Given the description of an element on the screen output the (x, y) to click on. 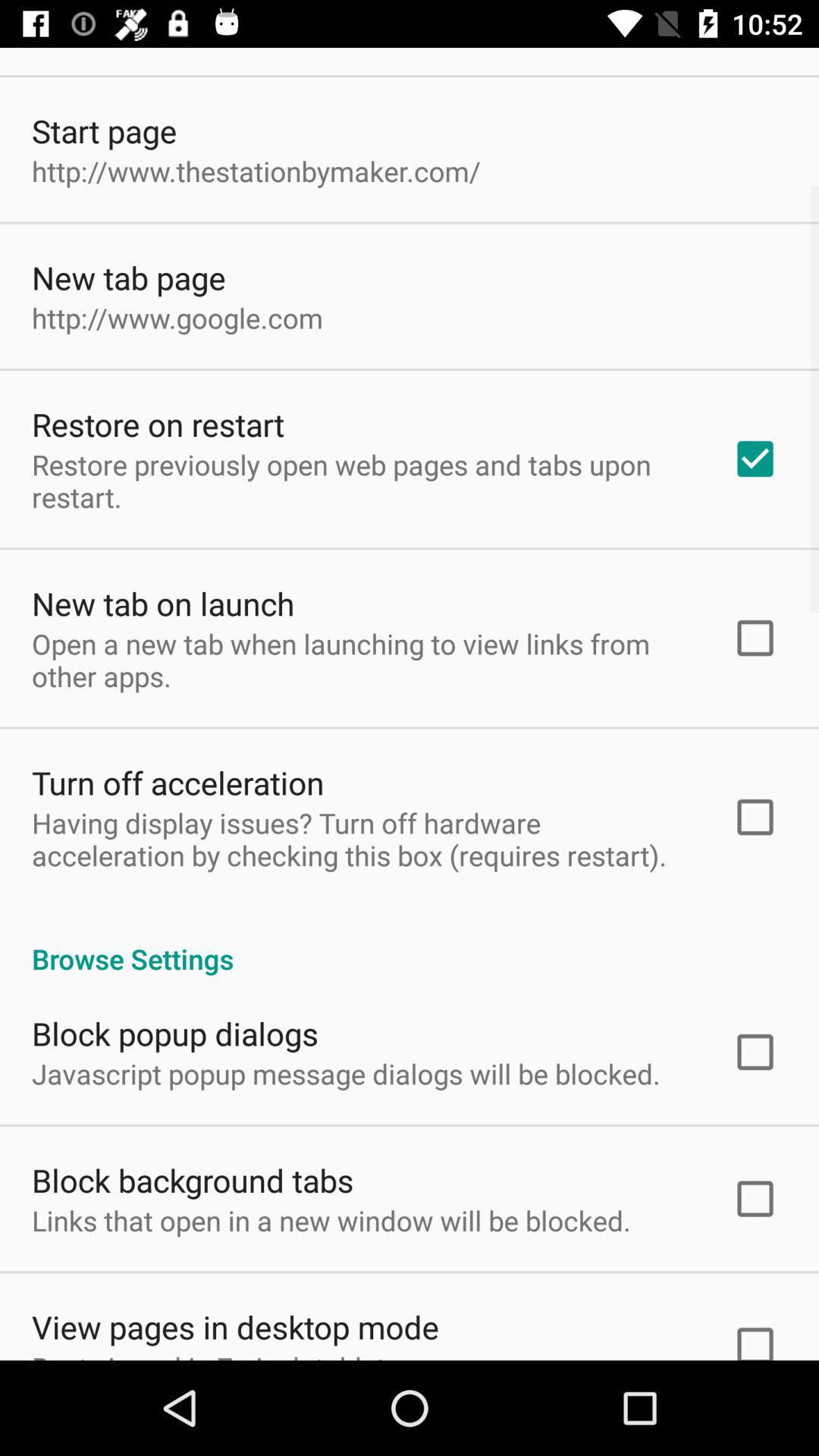
jump until the restore previously open (361, 480)
